Given the description of an element on the screen output the (x, y) to click on. 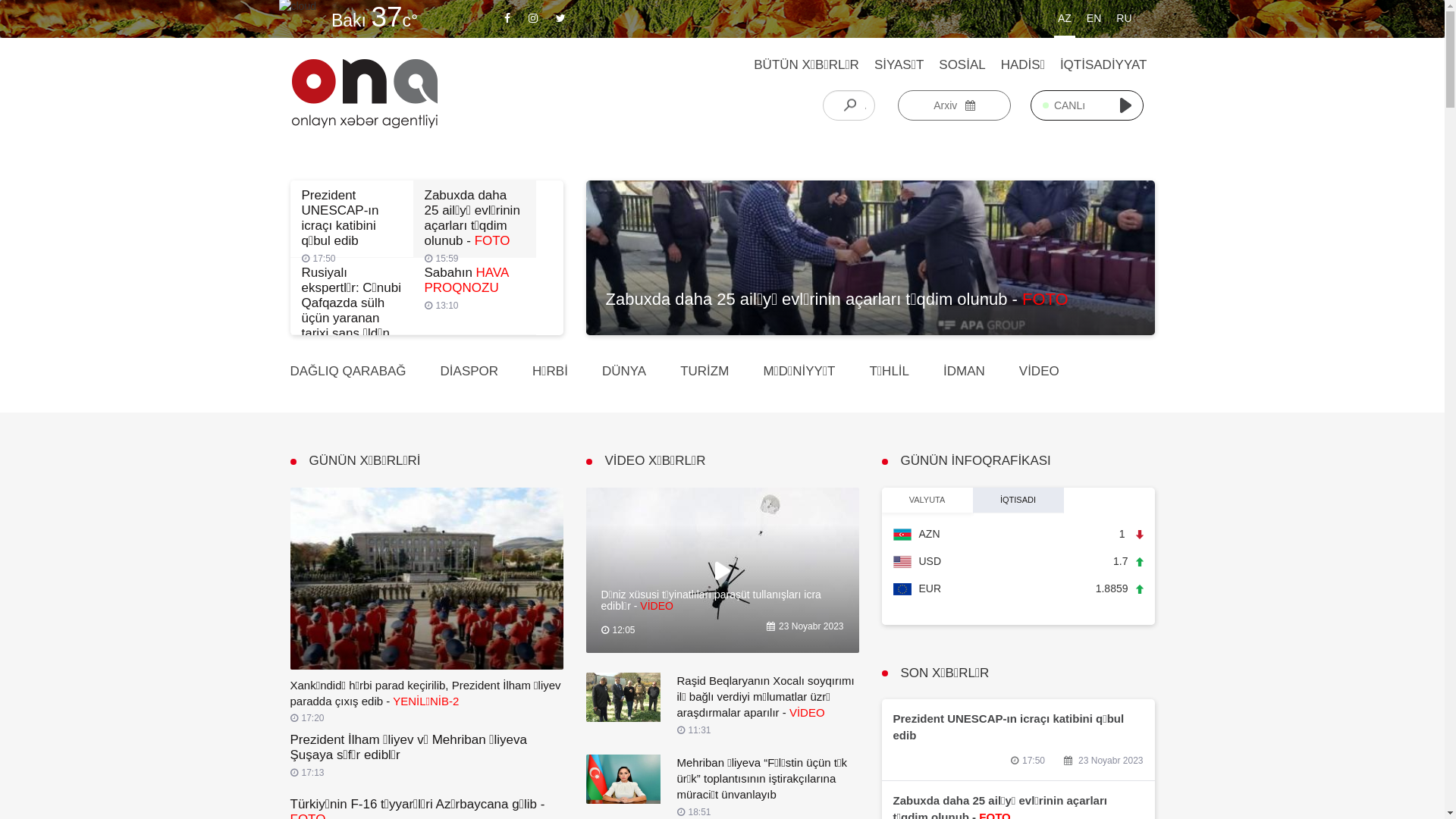
EN Element type: text (1093, 19)
Arxiv Element type: text (953, 105)
VALYUTA Element type: text (926, 500)
AZ Element type: text (1064, 19)
RU Element type: text (1123, 19)
Arxiv Element type: text (953, 105)
